Given the description of an element on the screen output the (x, y) to click on. 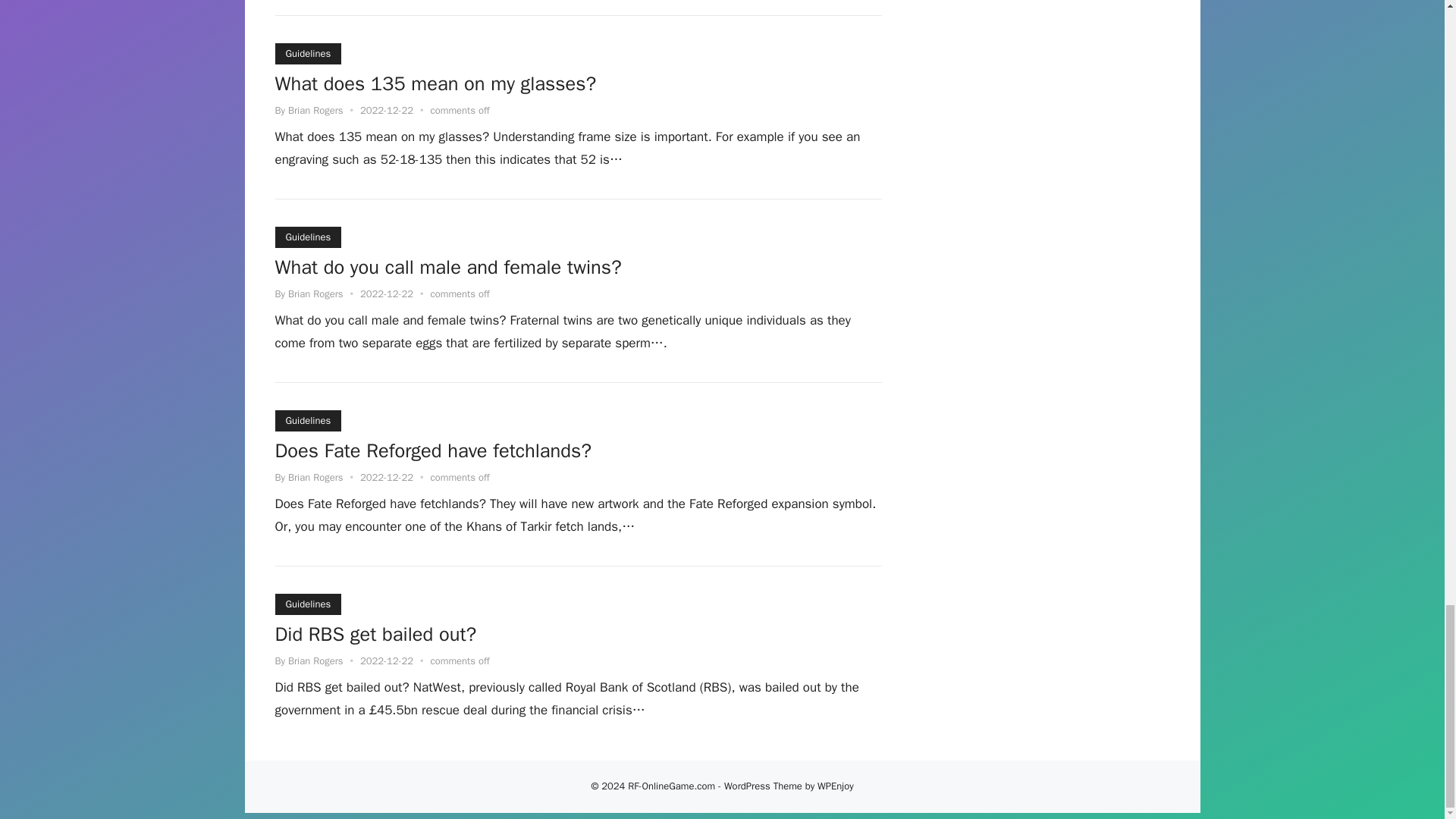
Posts by Brian Rogers (315, 477)
Posts by Brian Rogers (315, 293)
Posts by Brian Rogers (315, 660)
Posts by Brian Rogers (315, 110)
